Given the description of an element on the screen output the (x, y) to click on. 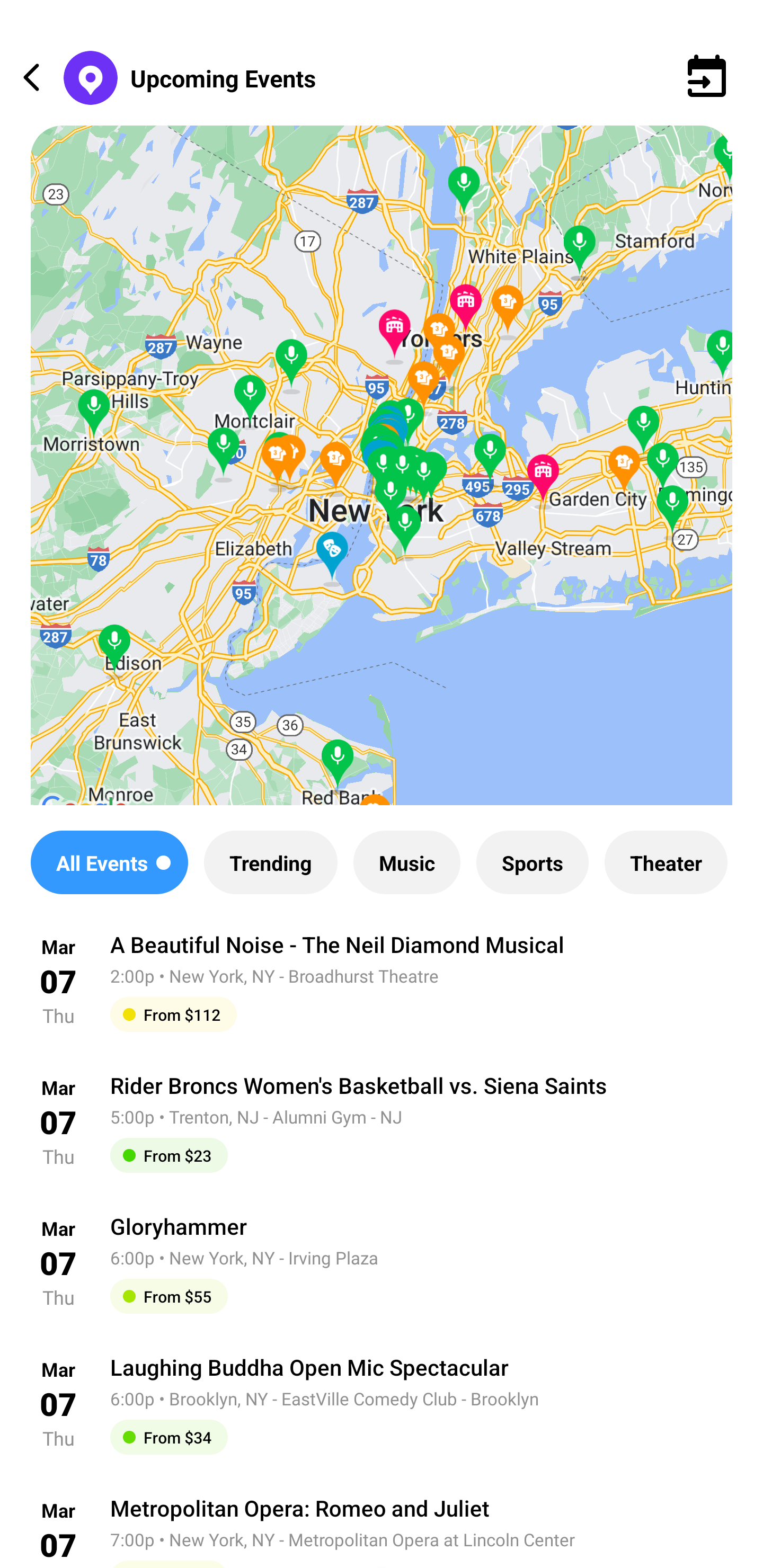
All Events (109, 862)
Trending (270, 862)
Music (406, 862)
Sports (532, 862)
Theater (665, 862)
